Given the description of an element on the screen output the (x, y) to click on. 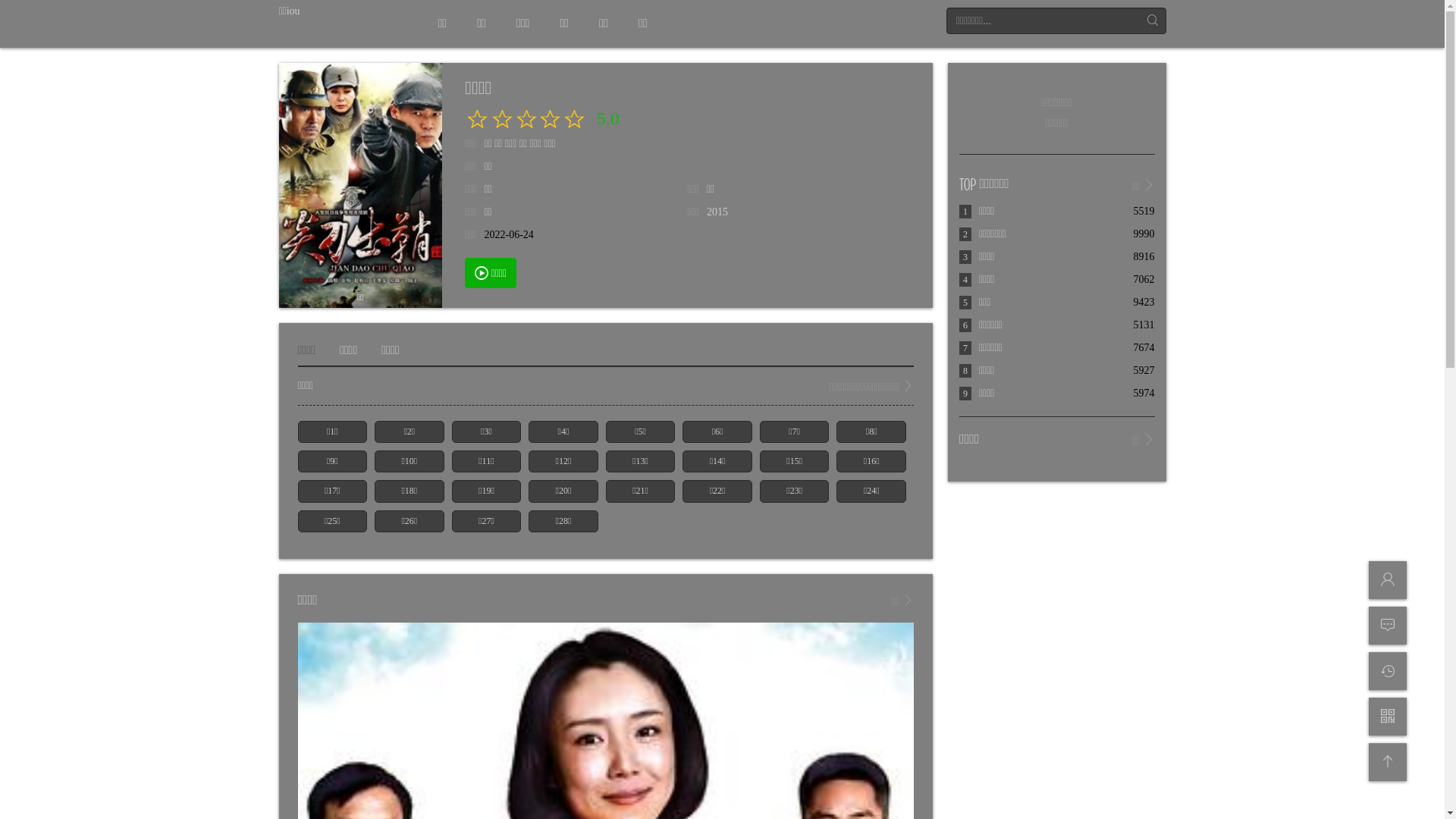
2015 Element type: text (717, 211)
